Given the description of an element on the screen output the (x, y) to click on. 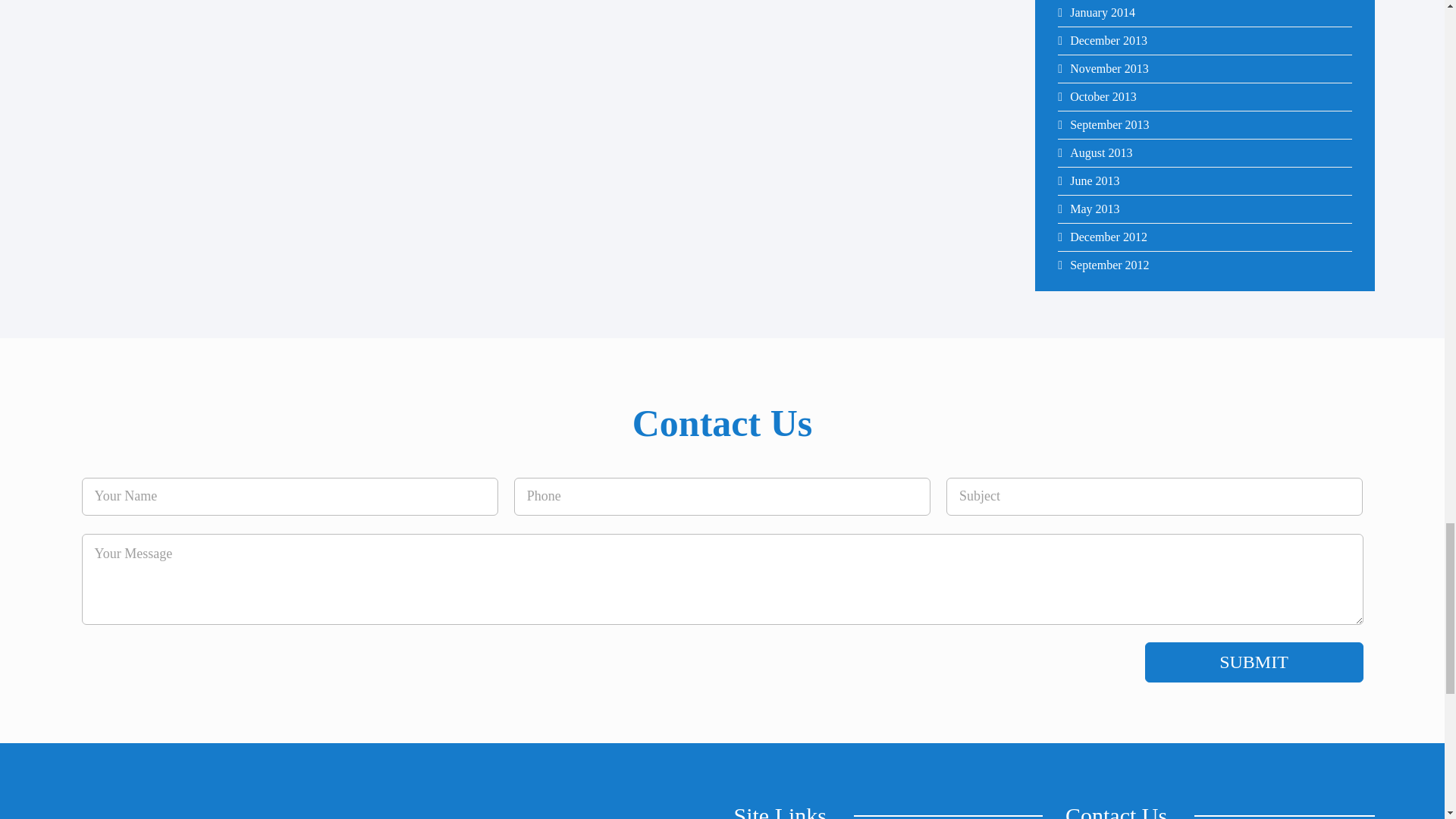
Submit (1253, 662)
